Given the description of an element on the screen output the (x, y) to click on. 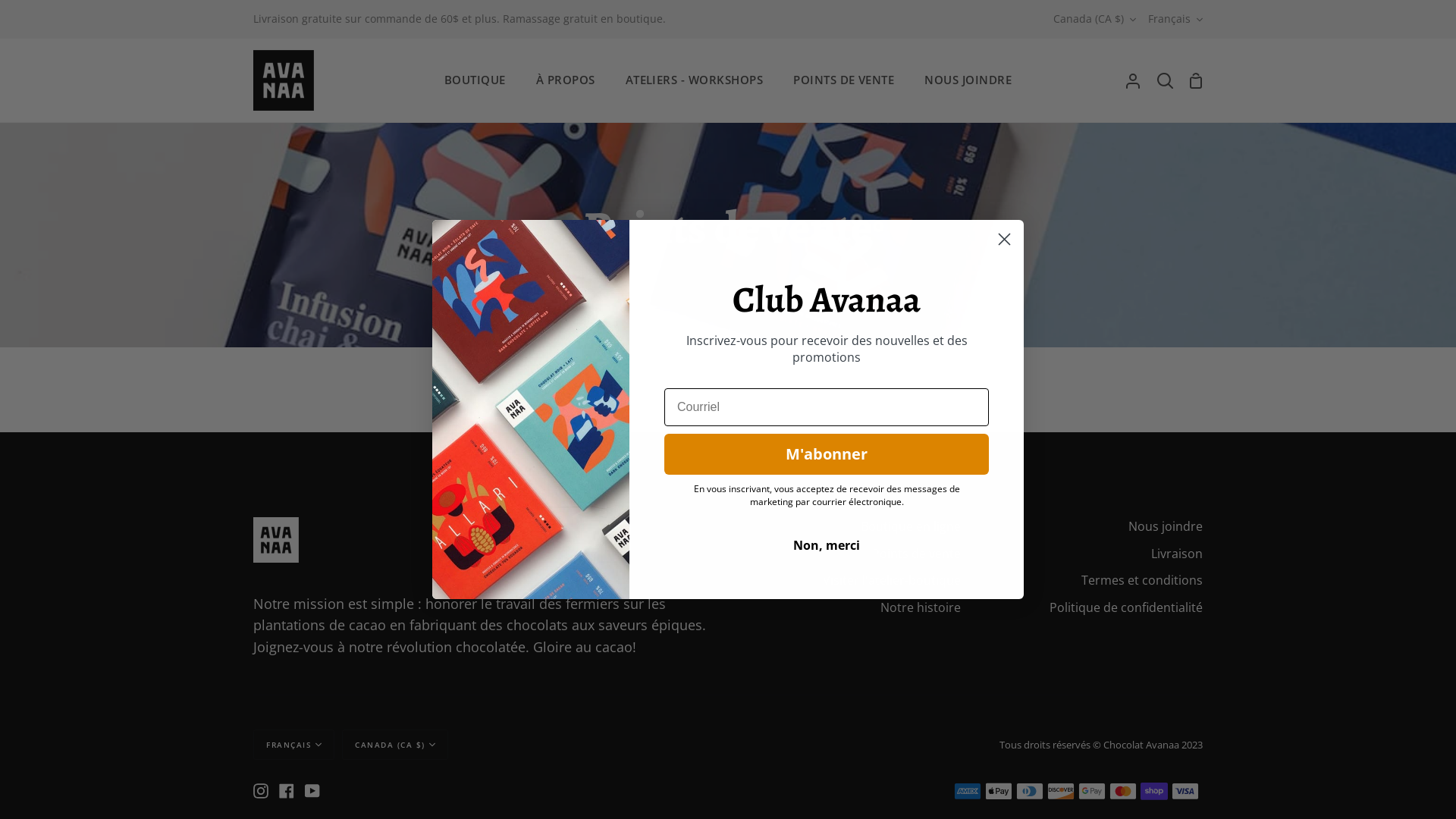
ATELIERS - WORKSHOPS Element type: text (694, 80)
Canada (CA $) Element type: text (1094, 19)
Recherche Element type: text (1164, 80)
Non, merci Element type: text (826, 544)
Boutique en ligne Element type: text (910, 525)
Livraison Element type: text (1176, 553)
NOUS JOINDRE Element type: text (967, 80)
BOUTIQUE Element type: text (474, 80)
Facebook Element type: text (286, 790)
Visiter l'atelier-boutique Element type: text (891, 579)
CANADA (CA $) Element type: text (395, 744)
Points de vente Element type: text (916, 553)
Instagram Element type: text (260, 790)
Submit Element type: text (33, 17)
Notre histoire Element type: text (920, 607)
Nous joindre Element type: text (1165, 525)
M'abonner Element type: text (826, 453)
Mon compte Element type: text (1132, 80)
POINTS DE VENTE Element type: text (843, 80)
YouTube Element type: text (312, 790)
Termes et conditions Element type: text (1141, 579)
Panier Element type: text (1195, 80)
